Given the description of an element on the screen output the (x, y) to click on. 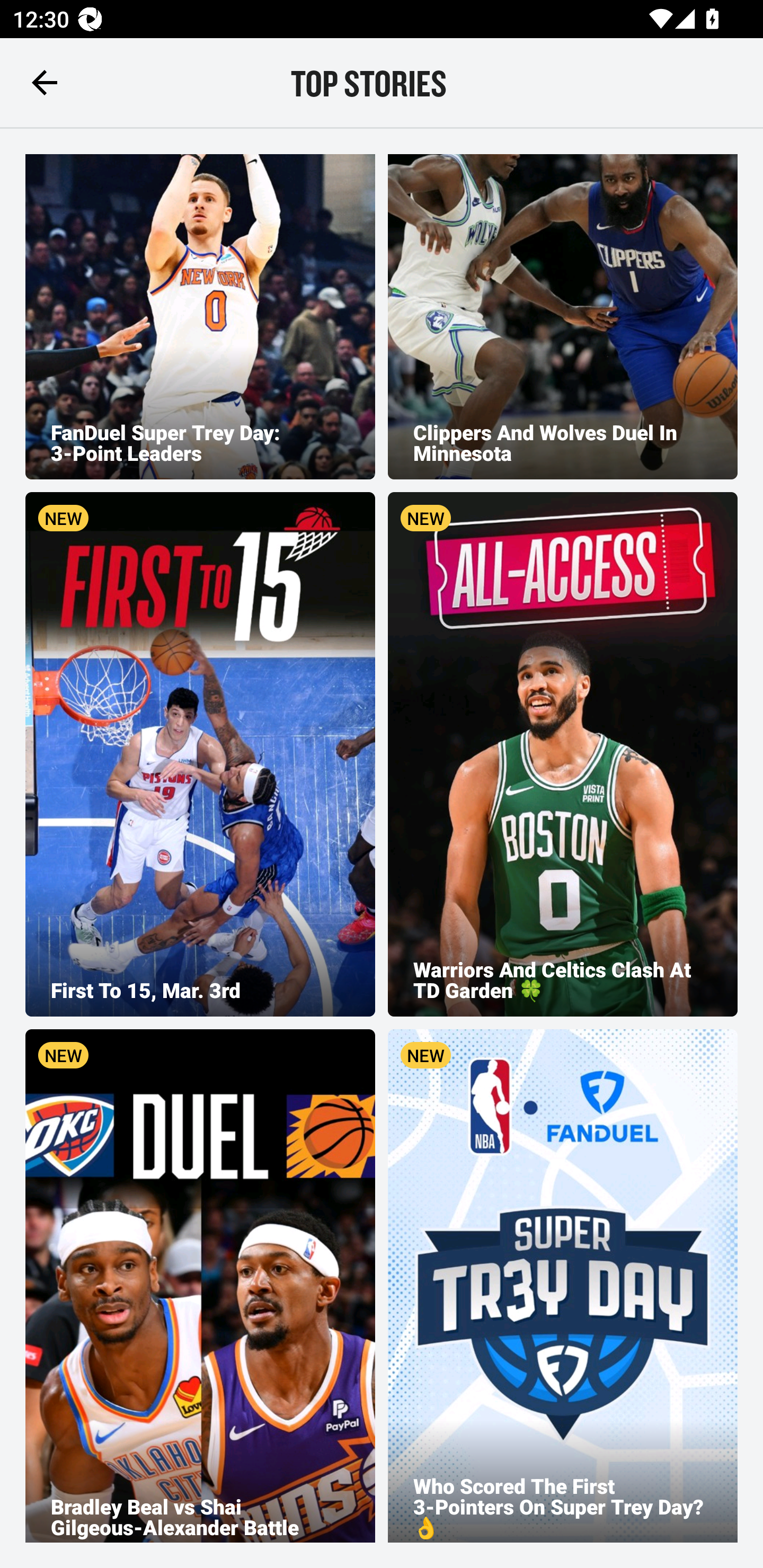
Navigate up (44, 82)
FanDuel Super Trey Day: 3-Point Leaders (200, 316)
Clippers And Wolves Duel In Minnesota (562, 316)
NEW First To 15, Mar. 3rd (200, 754)
NEW Warriors And Celtics Clash At TD Garden 🍀 (562, 754)
NEW Bradley Beal vs Shai Gilgeous-Alexander Battle (200, 1285)
